Given the description of an element on the screen output the (x, y) to click on. 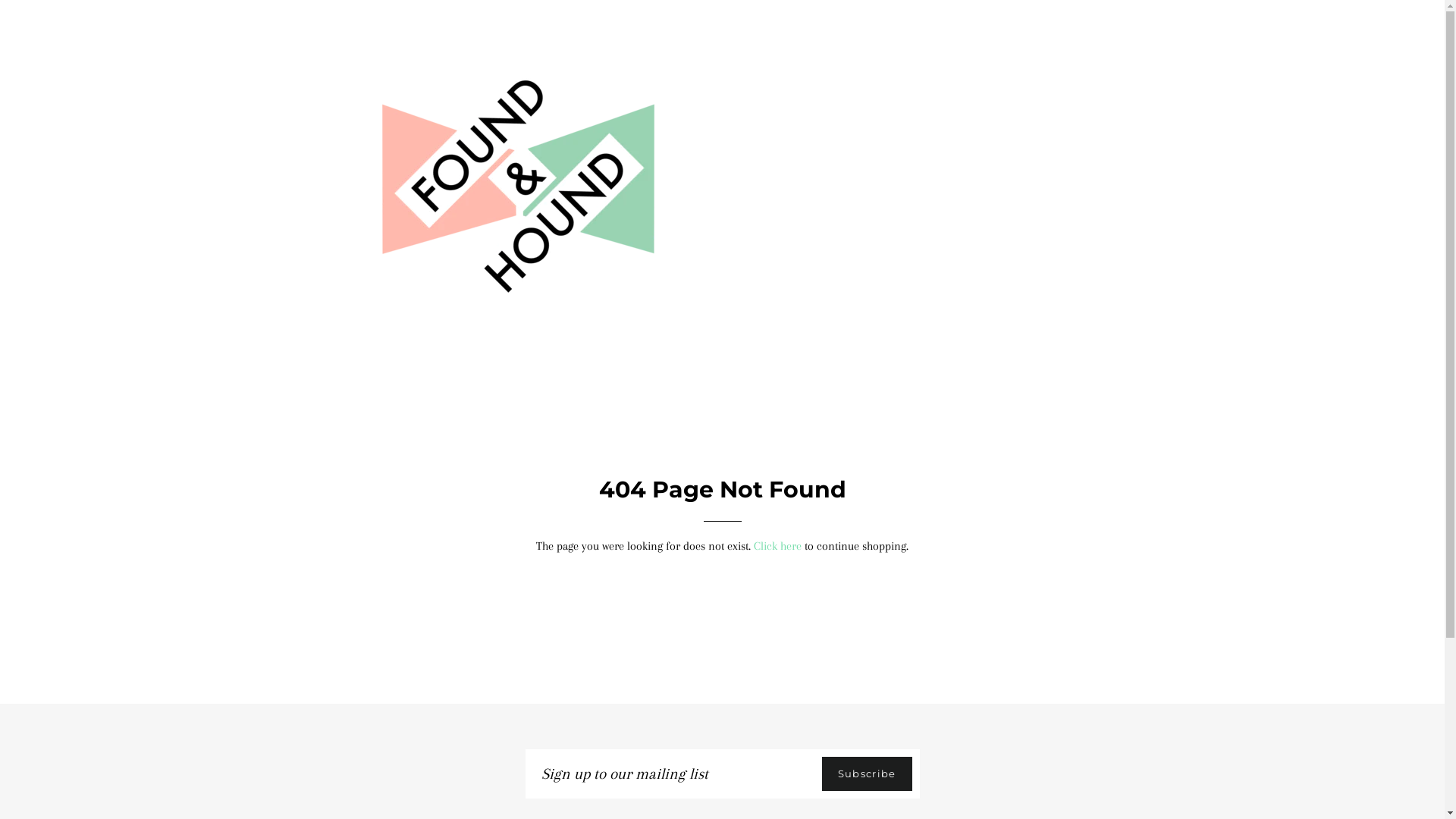
Click here Element type: text (777, 545)
Subscribe Element type: text (867, 773)
